Given the description of an element on the screen output the (x, y) to click on. 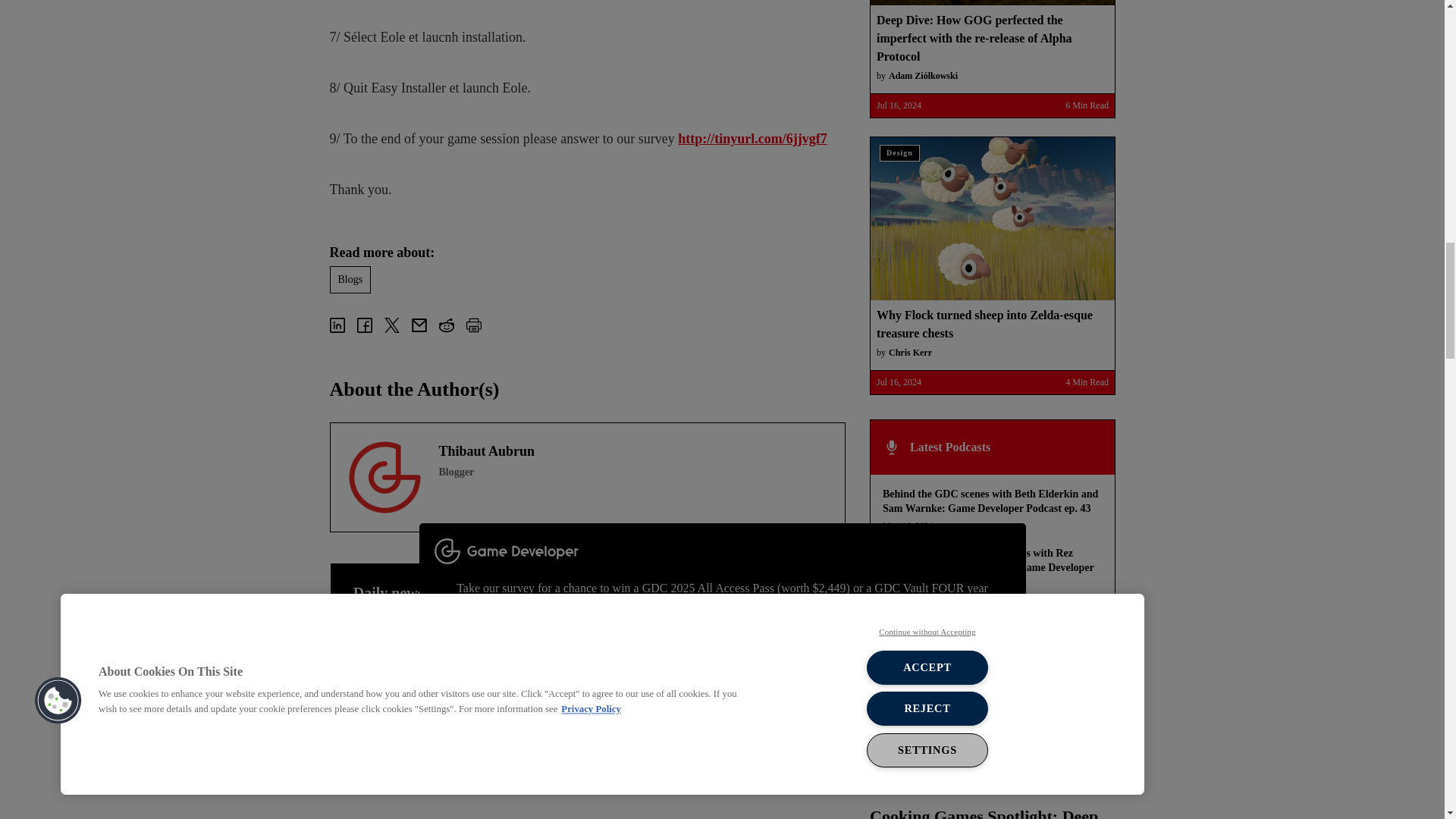
Thibaut Aubrun (384, 477)
